Given the description of an element on the screen output the (x, y) to click on. 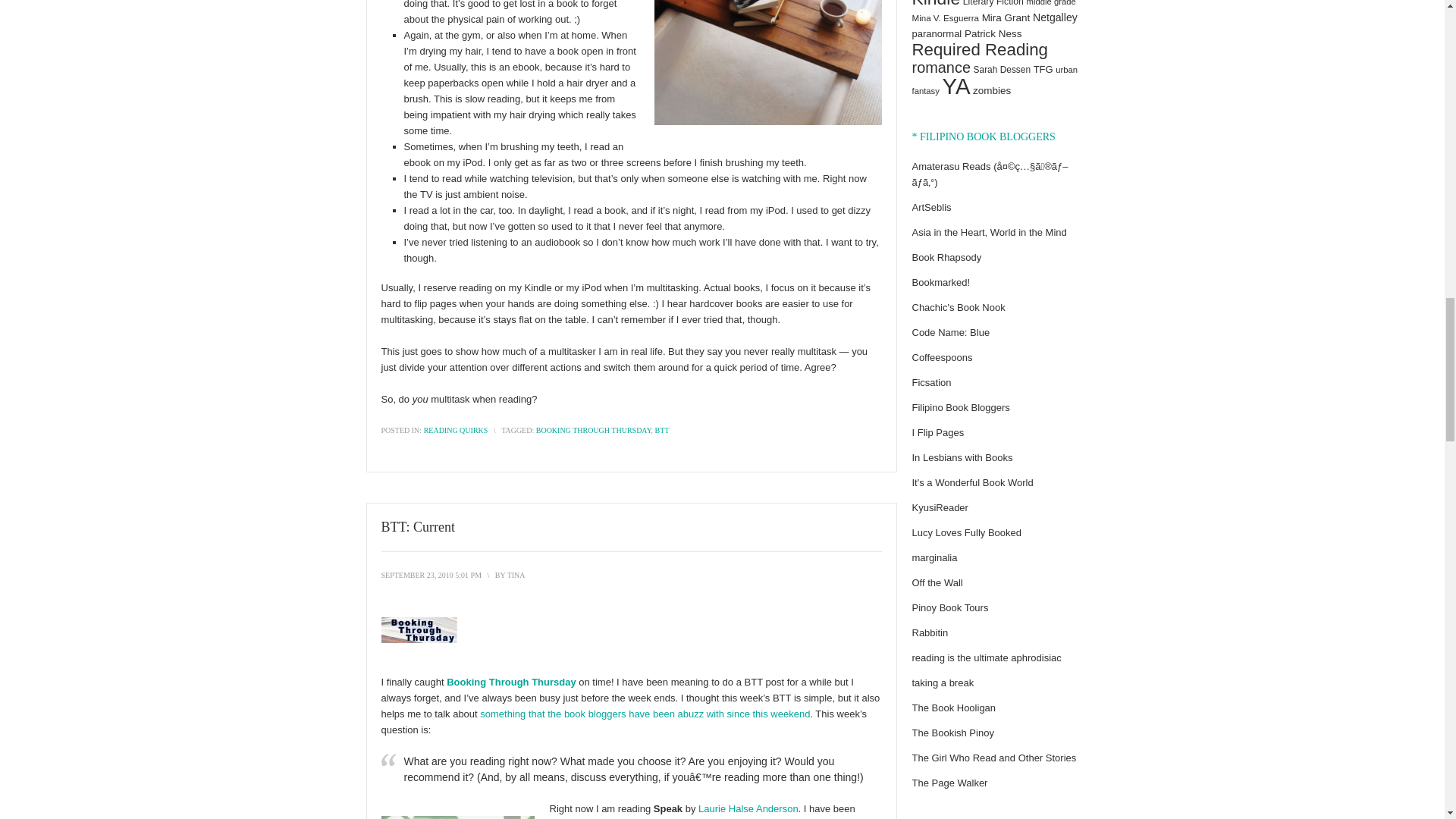
BTT: Current (417, 526)
Booking Through Thursday (510, 681)
BOOKING THROUGH THURSDAY (592, 429)
Laurie Halse Anderson (747, 808)
BTT (662, 429)
multitask-read (766, 62)
READING QUIRKS (455, 429)
SEPTEMBER 23, 2010 5:01 PM (430, 574)
Permalink to BTT: Current (417, 526)
TINA (515, 574)
